Given the description of an element on the screen output the (x, y) to click on. 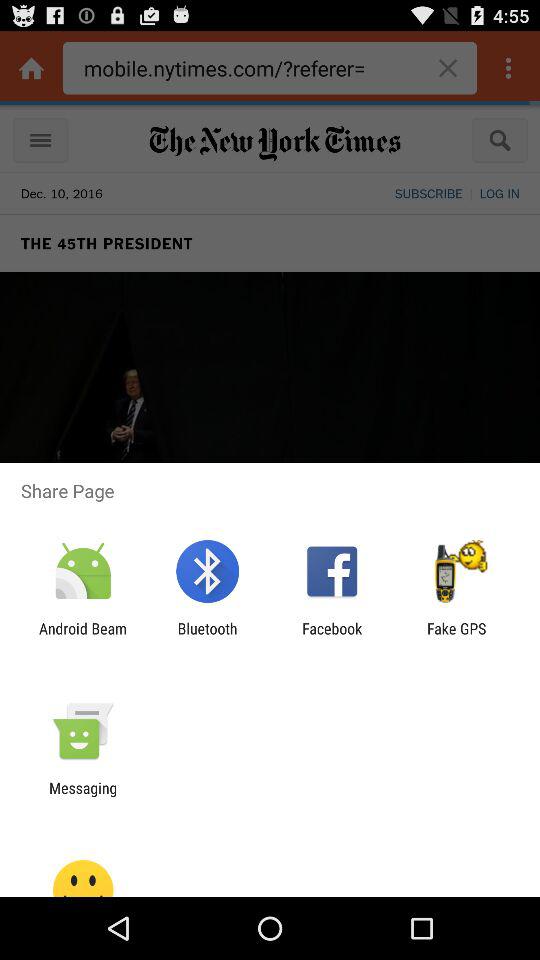
choose the bluetooth app (207, 637)
